Given the description of an element on the screen output the (x, y) to click on. 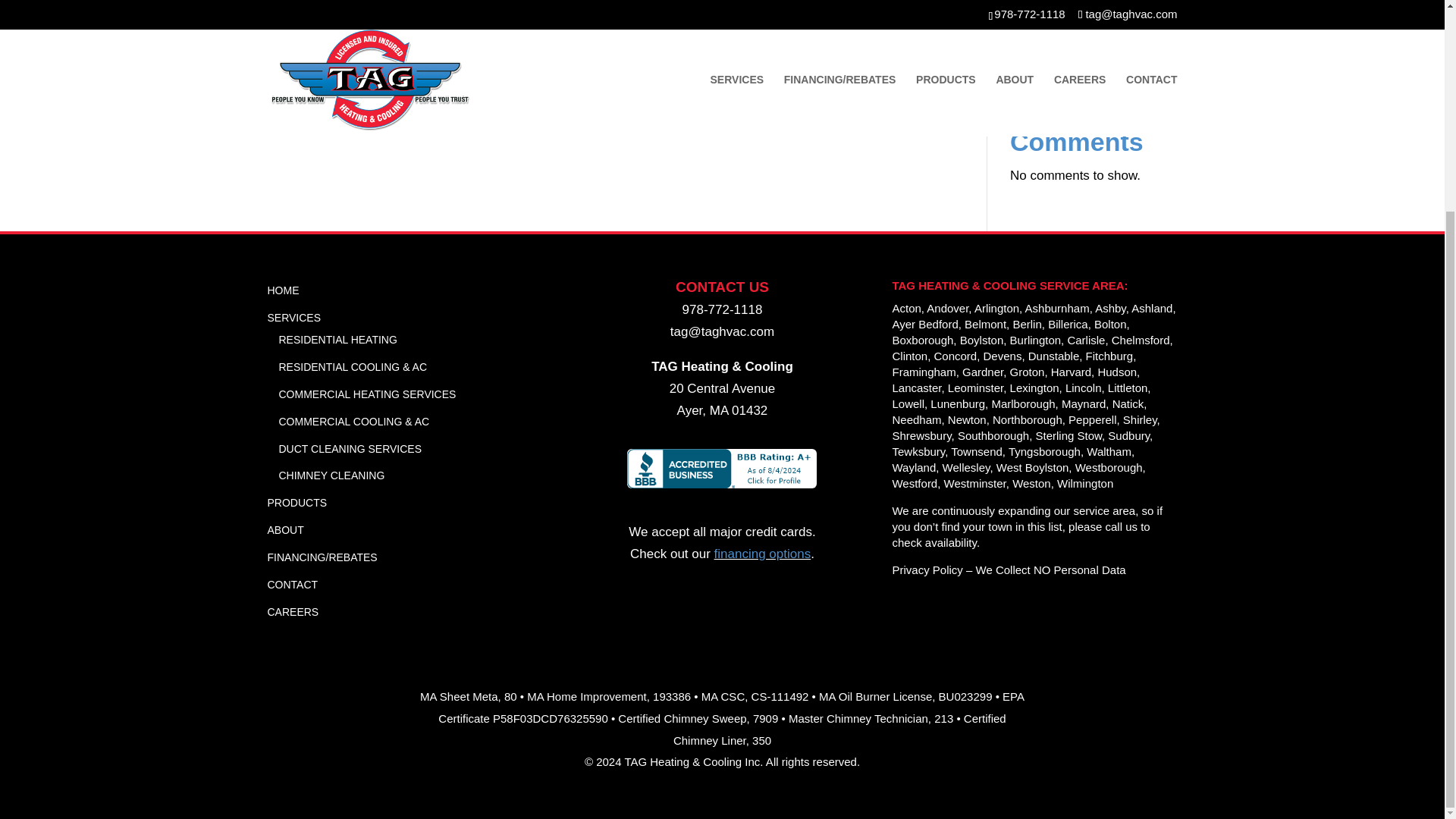
Brenda F. (1037, 37)
Russell Cl. (1040, 65)
Holly J. (1031, 8)
978-772-1118 (722, 309)
CAREERS (292, 612)
SERVICES (293, 317)
HOME (282, 290)
CONTACT (291, 584)
RESIDENTIAL HEATING (338, 339)
ABOUT (284, 530)
PRODUCTS (296, 502)
DUCT CLEANING SERVICES (350, 449)
CHIMNEY CLEANING (332, 475)
COMMERCIAL HEATING SERVICES (368, 394)
